Given the description of an element on the screen output the (x, y) to click on. 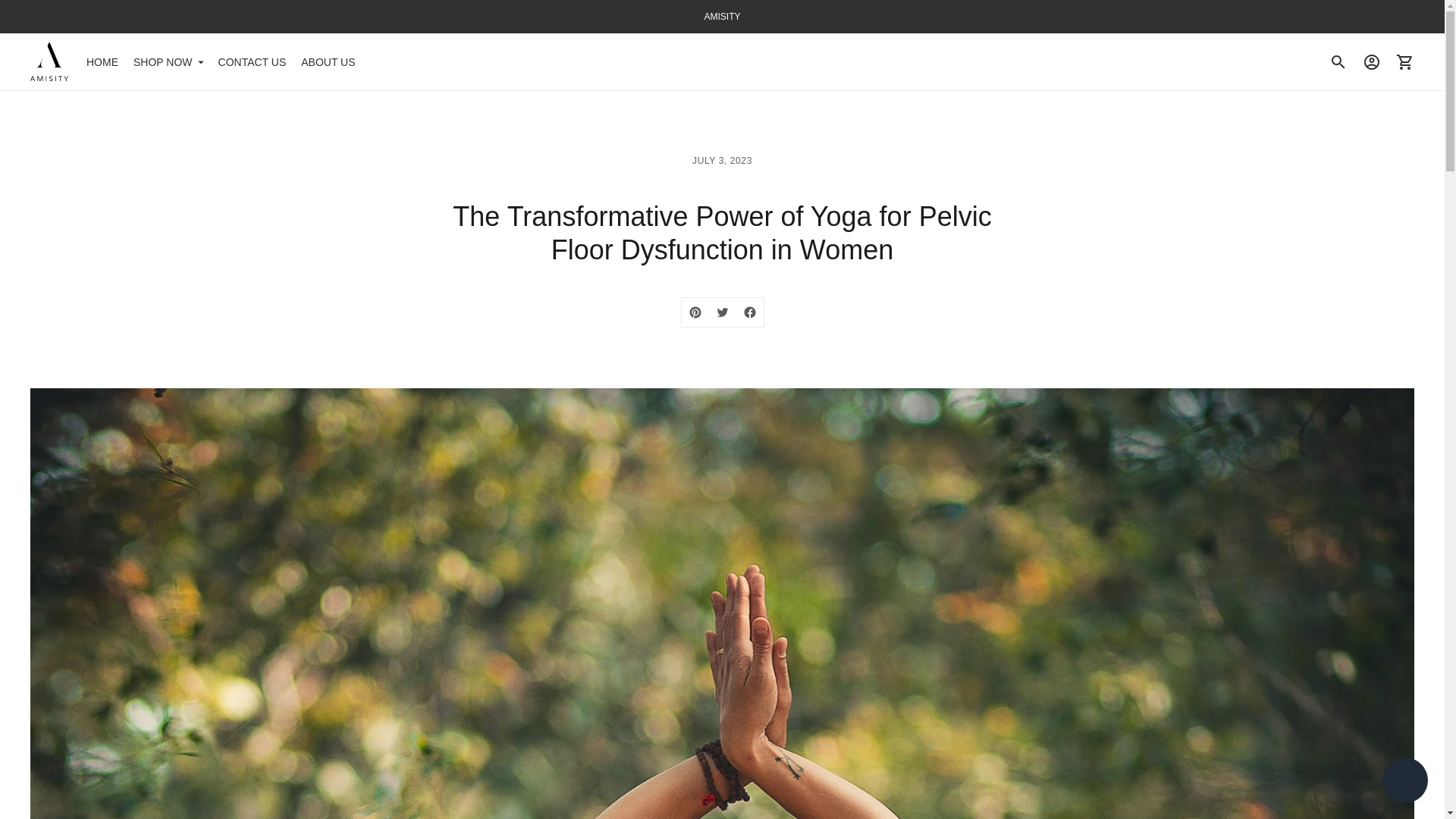
ABOUT US (328, 61)
HOME (101, 61)
CONTACT US (252, 61)
SHOP NOW (168, 61)
